Given the description of an element on the screen output the (x, y) to click on. 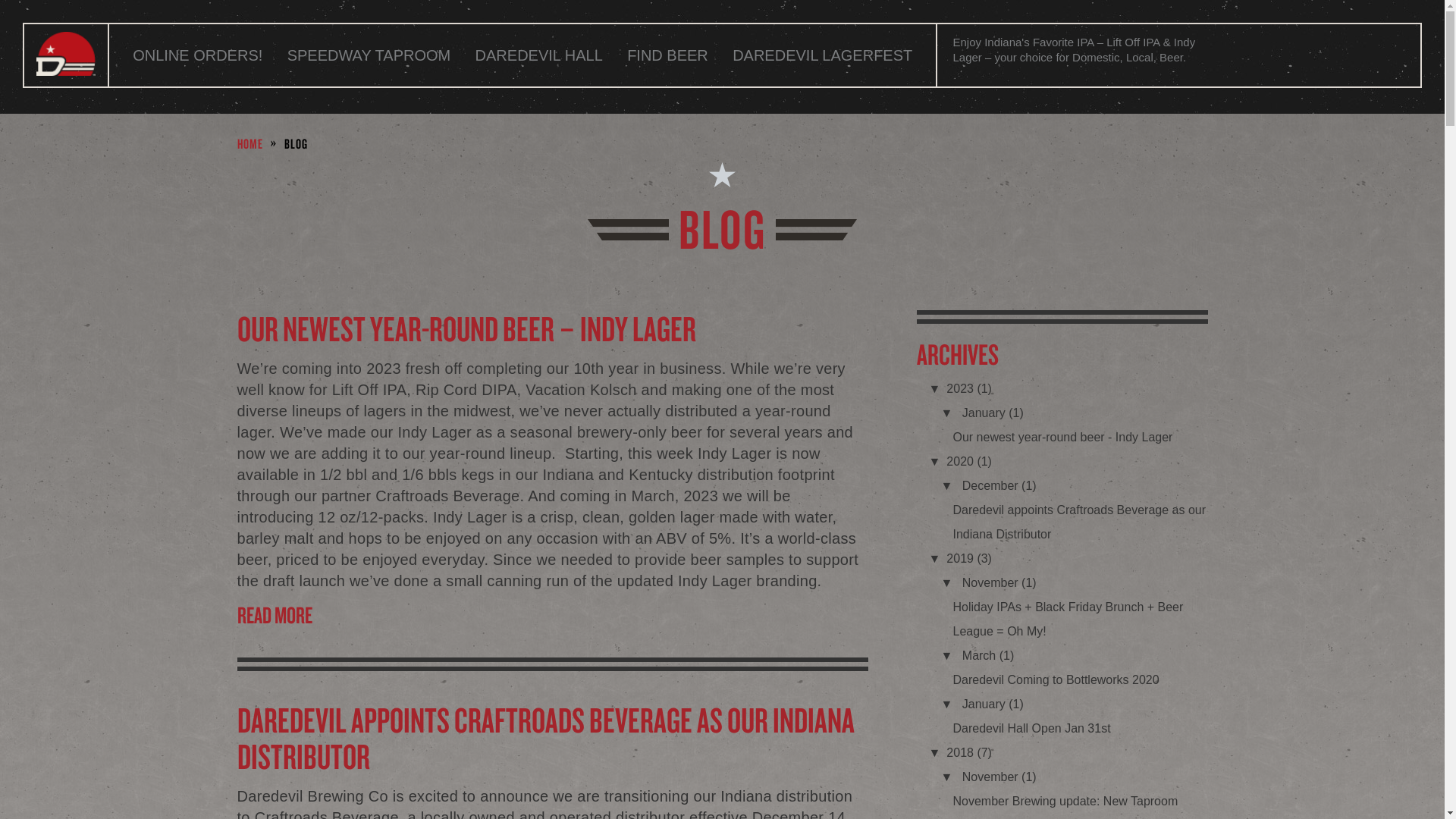
ONLINE ORDERS! (197, 54)
Online Orders! (197, 54)
HOME (248, 143)
DAREDEVIL HALL (539, 54)
READ MORE (551, 614)
Taproom (368, 54)
SPEEDWAY TAPROOM (368, 54)
DAREDEVIL LAGERFEST (822, 54)
FIND BEER (667, 54)
